Given the description of an element on the screen output the (x, y) to click on. 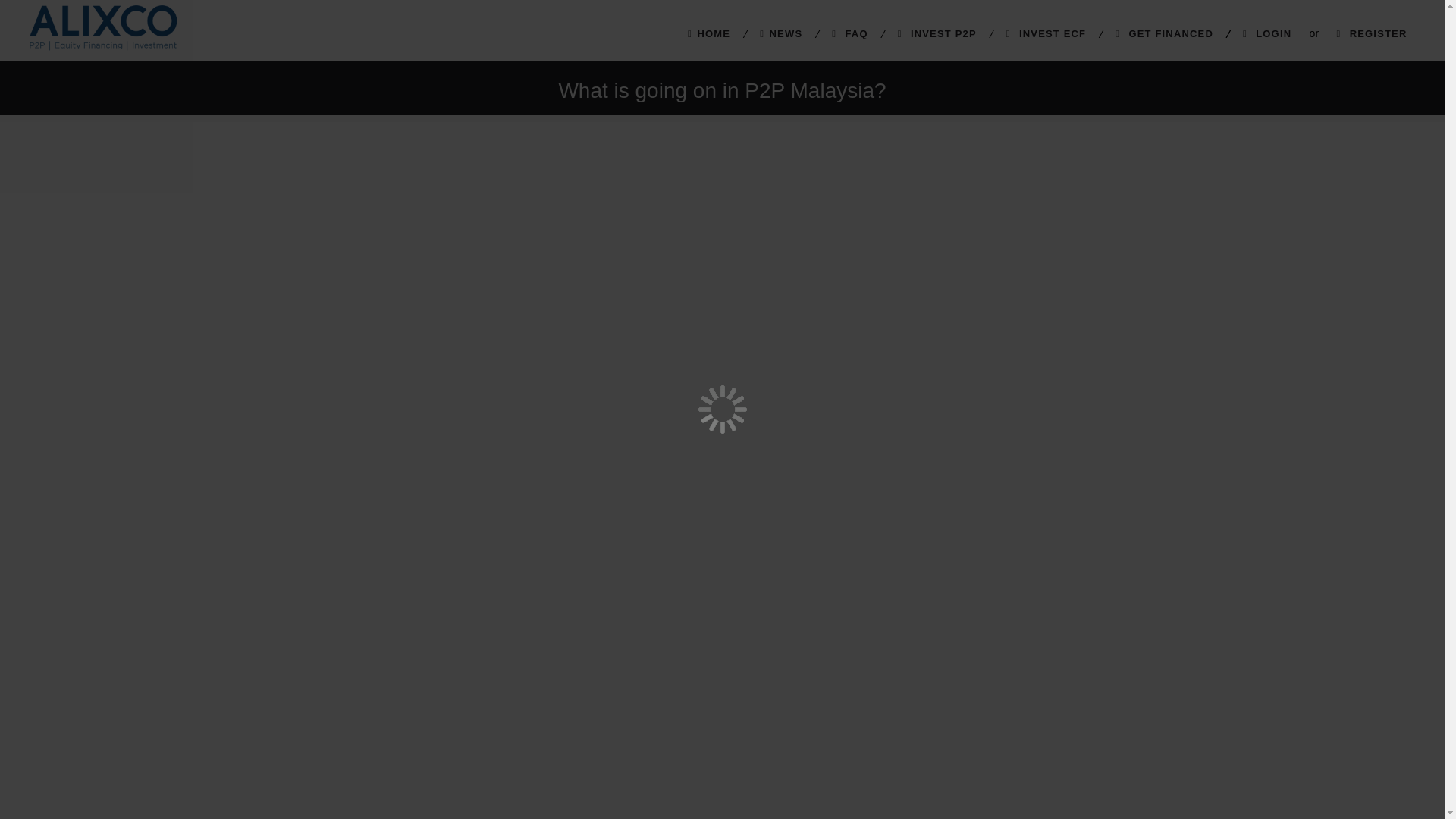
NEWS (780, 33)
LOGIN (1267, 33)
REGISTER (1372, 33)
GET FINANCED (1164, 33)
HOME (708, 33)
INVEST ECF (1045, 33)
INVEST P2P (936, 33)
FAQ (849, 33)
